Given the description of an element on the screen output the (x, y) to click on. 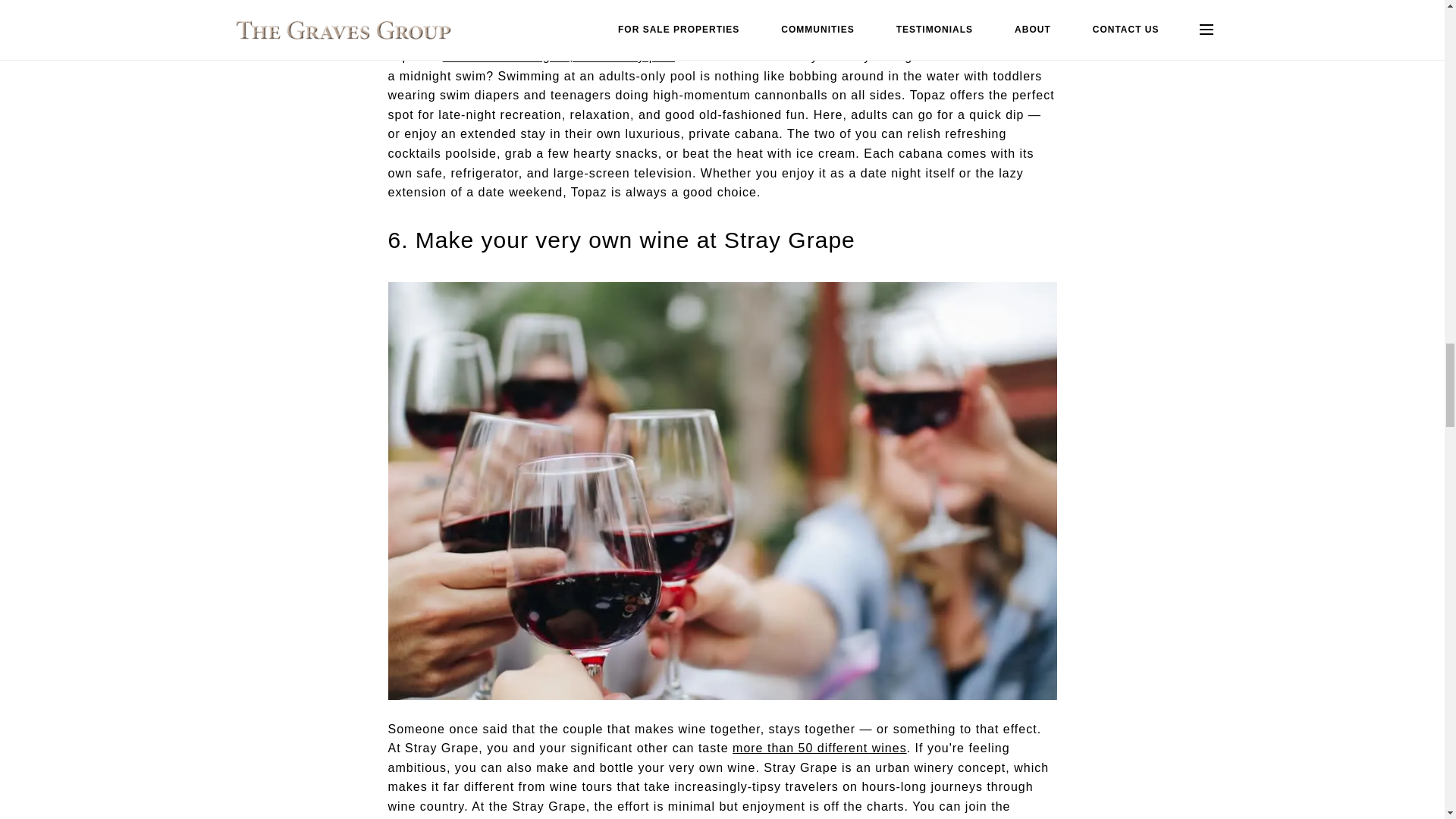
more than 50 different wines (819, 748)
